Given the description of an element on the screen output the (x, y) to click on. 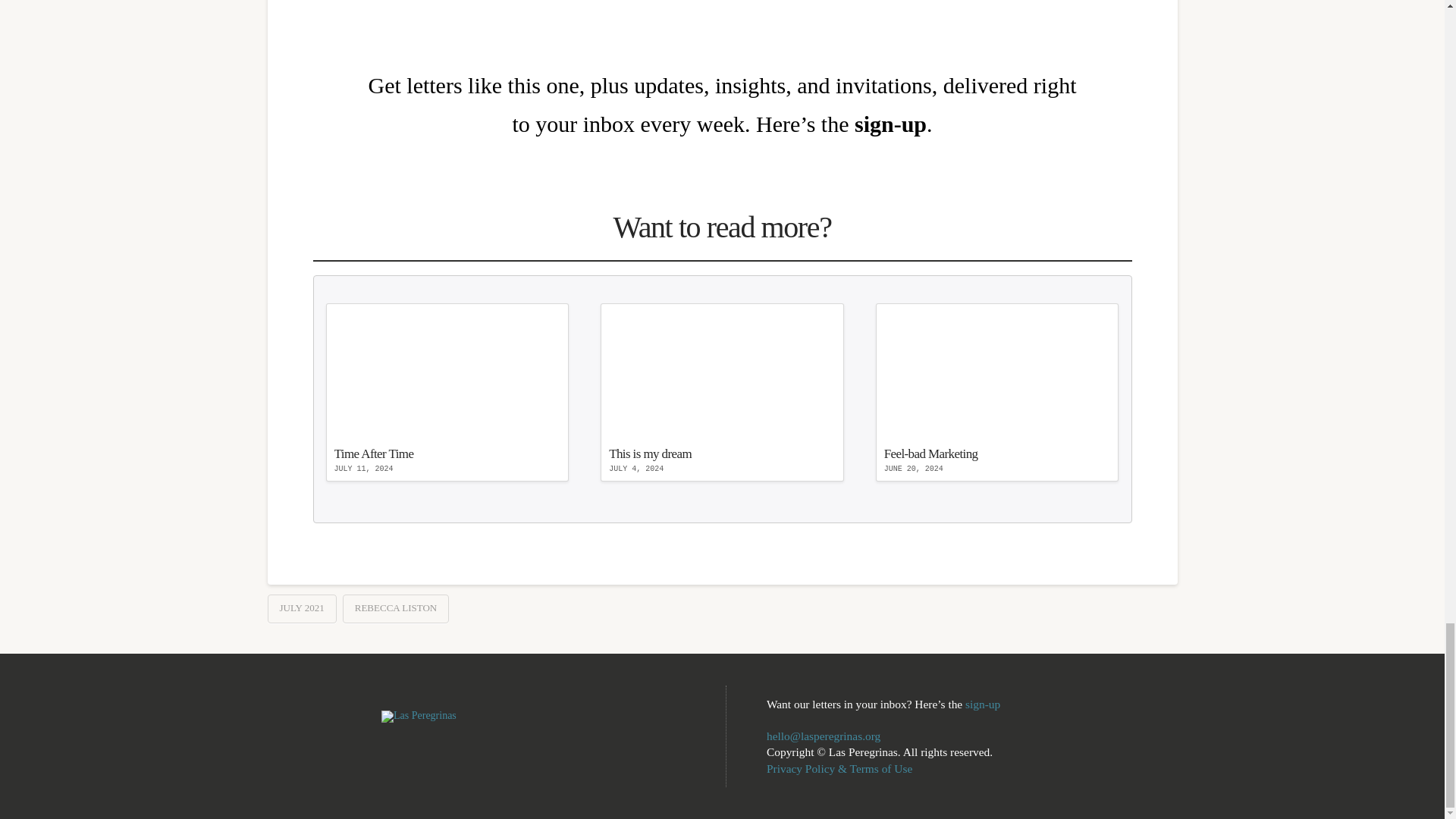
JULY 2021 (301, 608)
sign-up (982, 703)
Permalink to: "Time After Time" (721, 392)
Permalink to: "Feel-bad Marketing" (447, 392)
Permalink to: "This is my dream" (997, 392)
REBECCA LISTON (997, 392)
sign-up (721, 392)
